Given the description of an element on the screen output the (x, y) to click on. 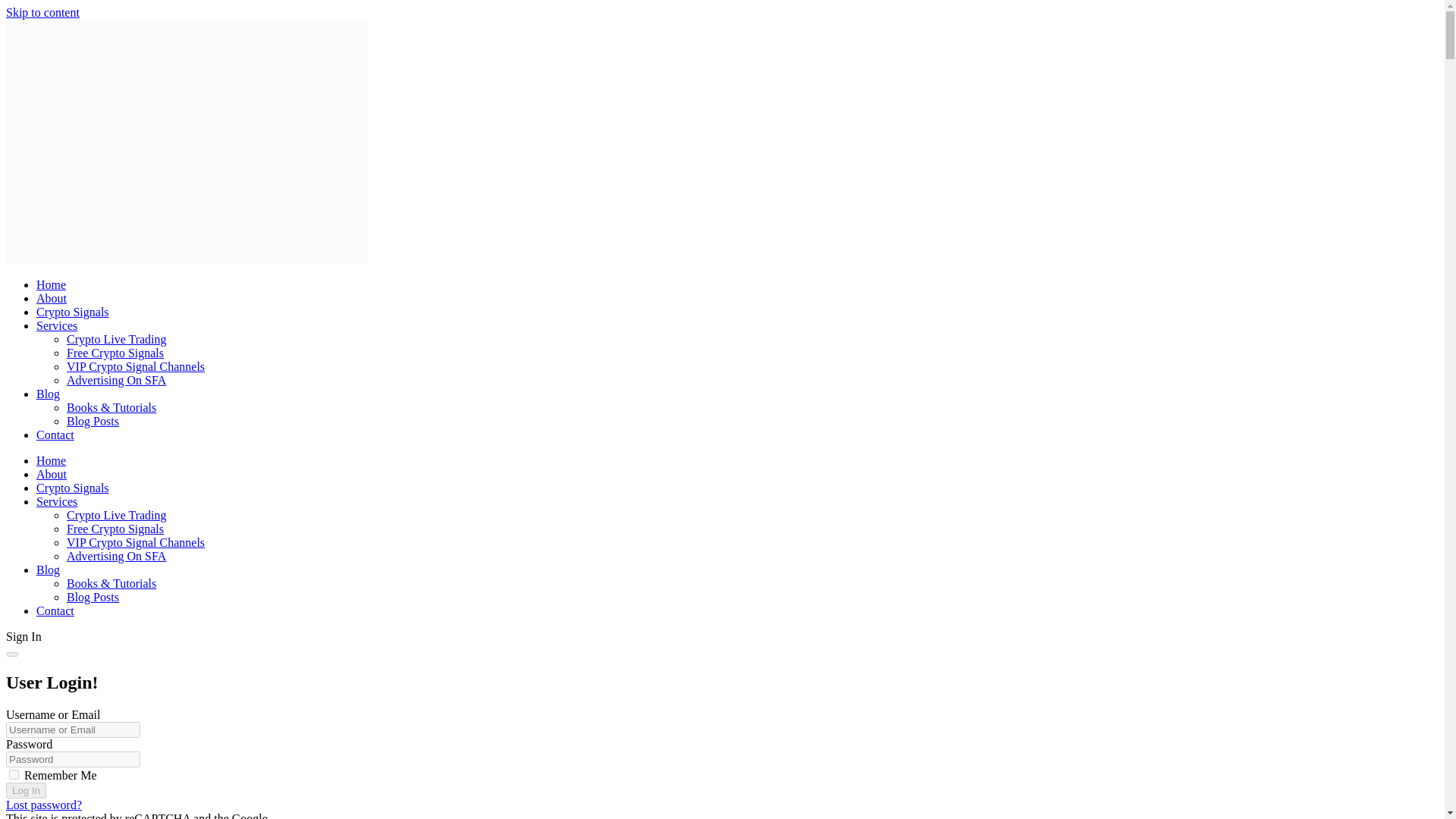
About (51, 473)
Crypto Signals (72, 311)
Blog Posts (92, 596)
Lost password? (43, 804)
Advertising On SFA (115, 379)
Free Crypto Signals (114, 528)
Blog (47, 569)
Services (56, 325)
VIP Crypto Signal Channels (135, 366)
Blog Posts (92, 420)
Advertising On SFA (115, 555)
Skip to content (42, 11)
Contact (55, 610)
Sign In (23, 635)
Contact (55, 434)
